Given the description of an element on the screen output the (x, y) to click on. 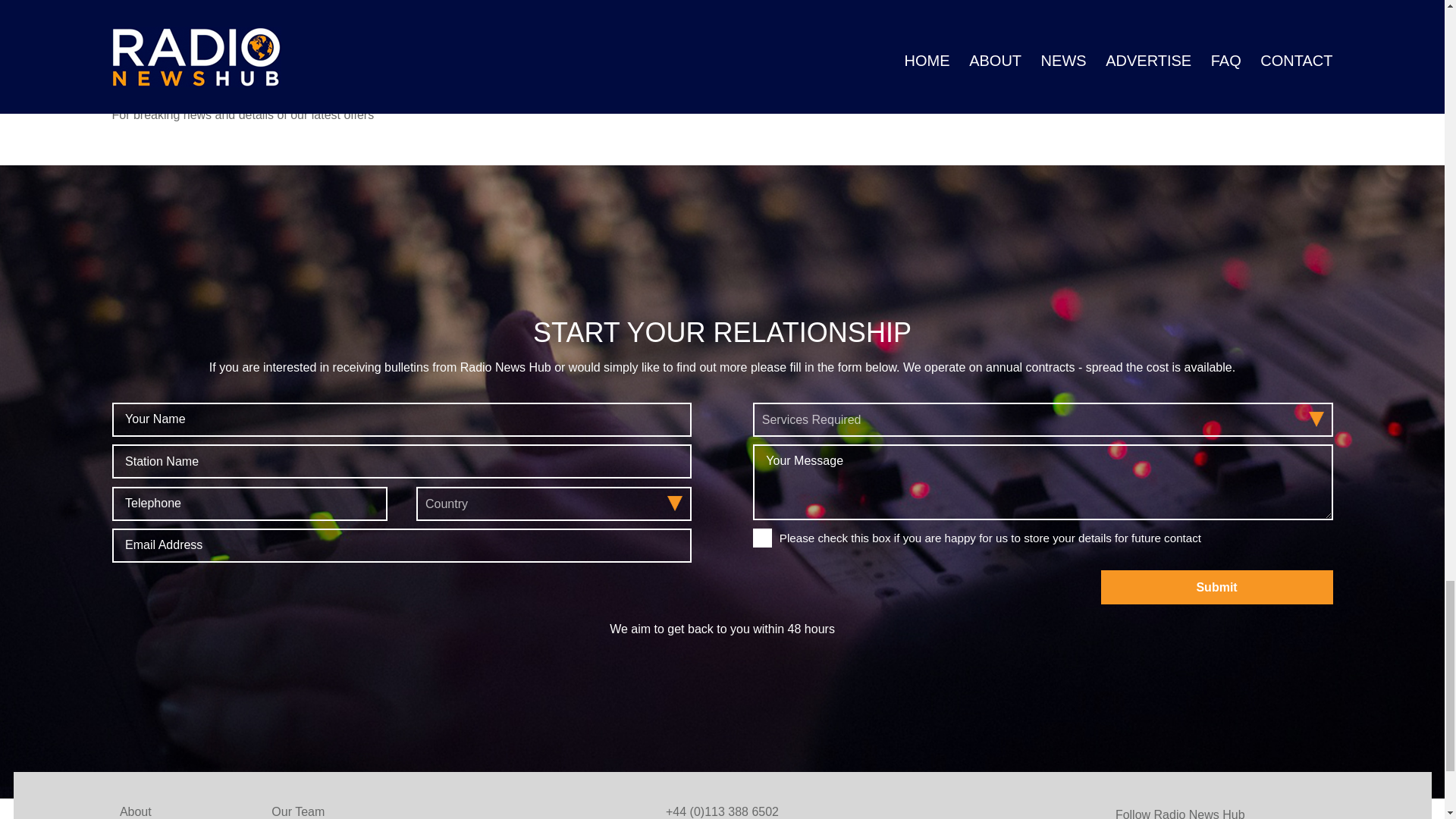
Tweets by radionewshub (911, 67)
About (135, 811)
Our Team (297, 811)
submit (1216, 587)
